Given the description of an element on the screen output the (x, y) to click on. 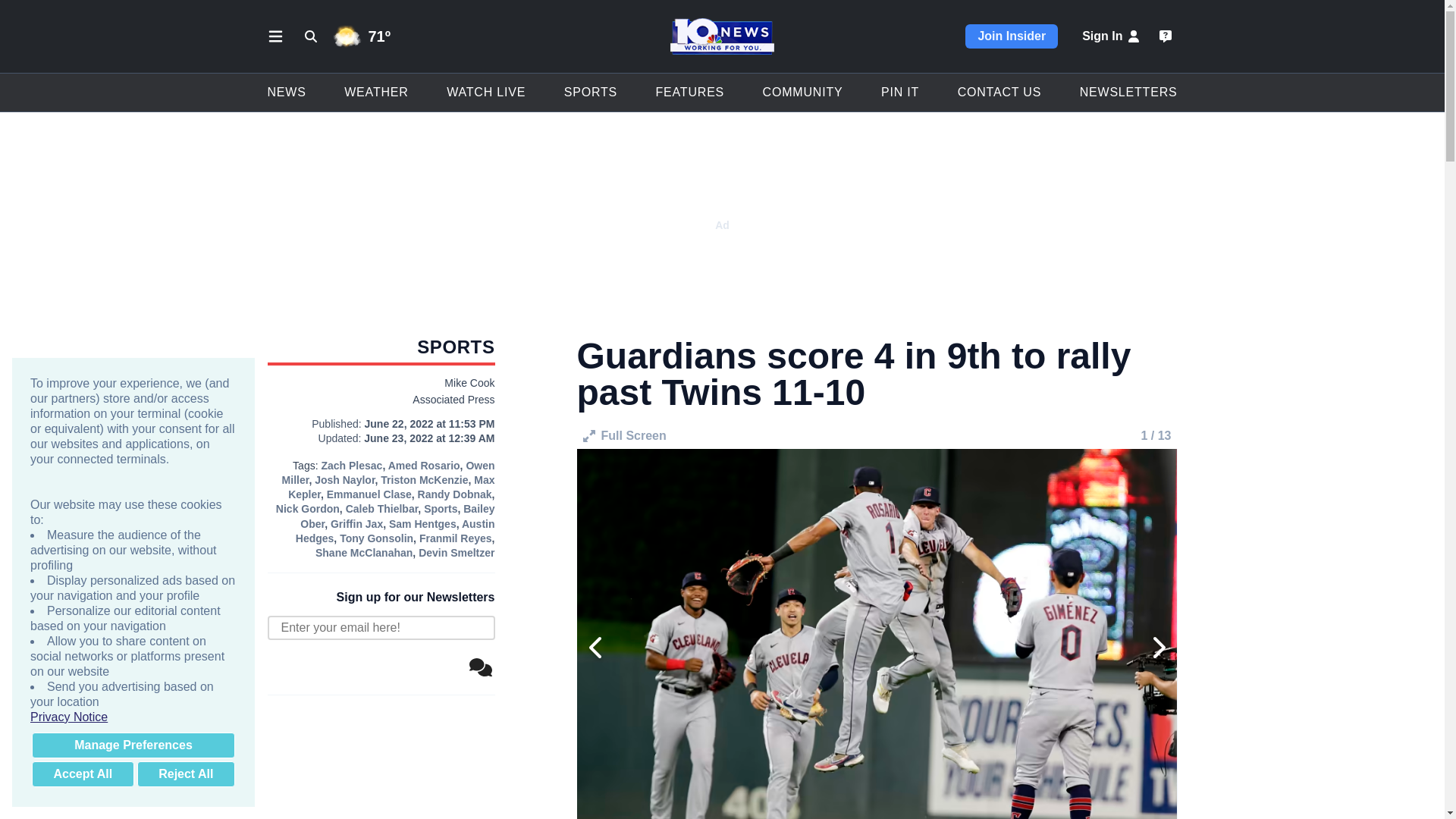
Join Insider (1011, 36)
Manage Preferences (133, 745)
Privacy Notice (132, 717)
Reject All (185, 774)
Accept All (82, 774)
Sign In (1111, 36)
